Given the description of an element on the screen output the (x, y) to click on. 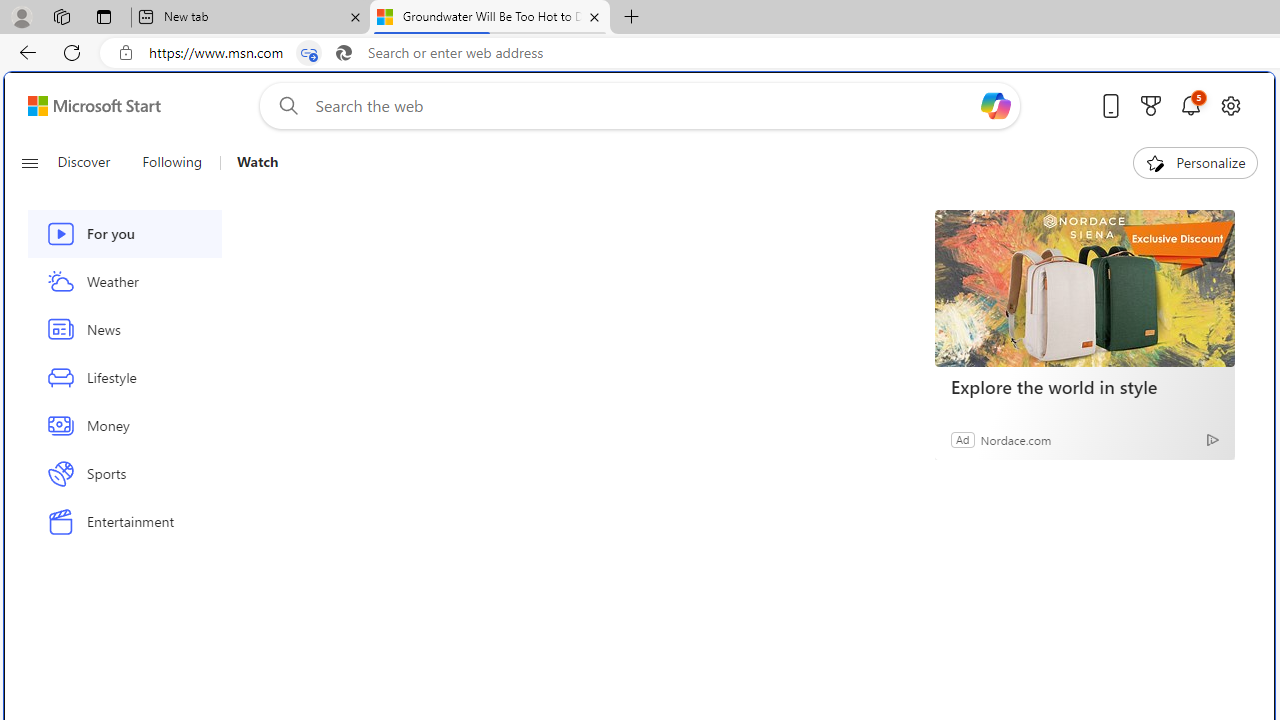
Close tab (594, 16)
Discover (84, 162)
Explore the world in style (1084, 386)
View site information (125, 53)
Skip to footer (82, 105)
Refresh (72, 52)
Watch (257, 162)
Microsoft rewards (1151, 105)
New tab (250, 17)
Notifications (1190, 105)
Following (172, 162)
Ad (963, 439)
Open Copilot (995, 105)
